Given the description of an element on the screen output the (x, y) to click on. 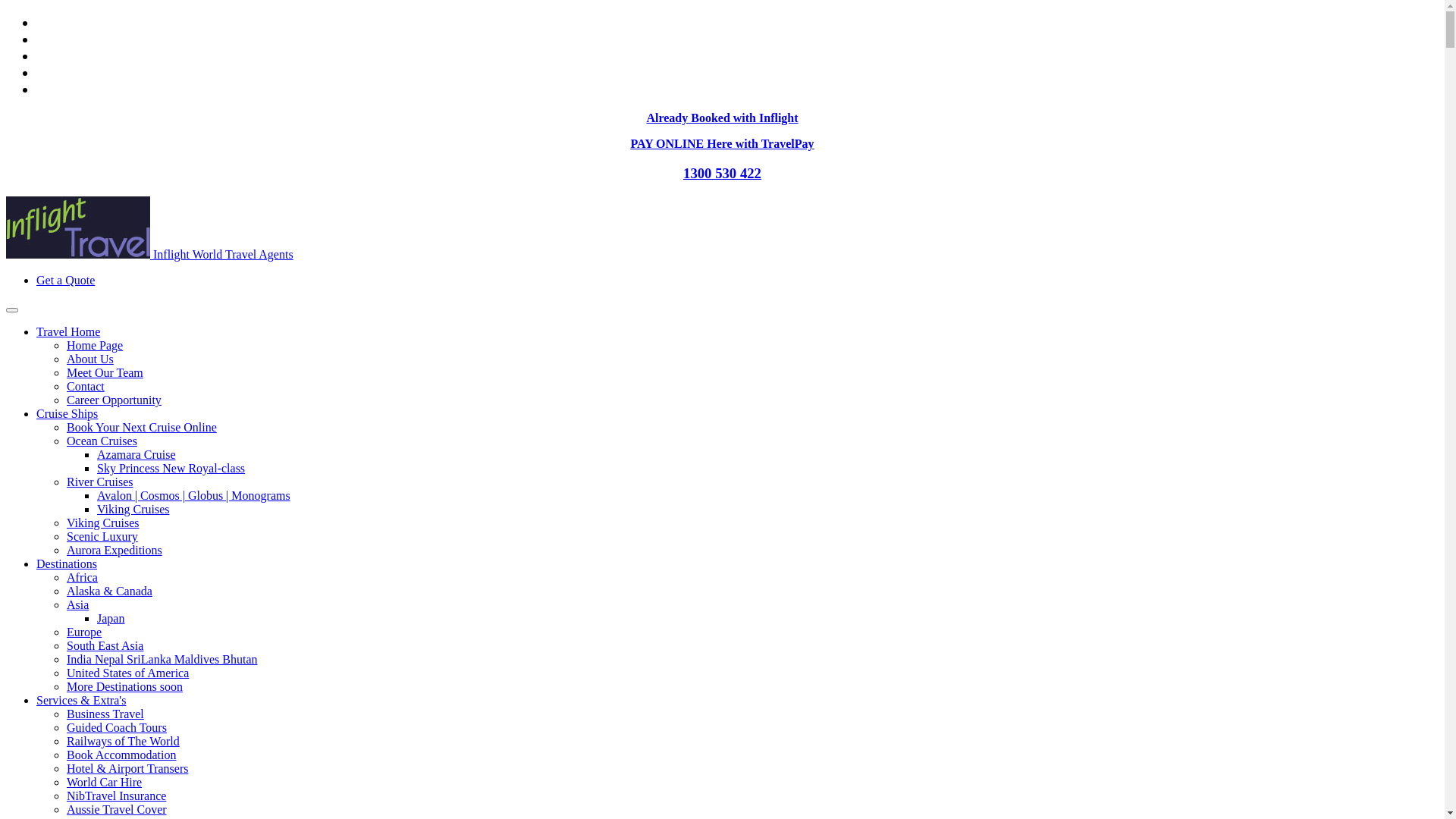
Business Travel Element type: text (105, 713)
Railways of The World Element type: text (122, 740)
Viking Cruises Element type: text (133, 508)
Viking Cruises Element type: text (102, 522)
Already Booked with Inflight Element type: text (721, 117)
Europe Element type: text (83, 631)
More Destinations soon Element type: text (124, 686)
Aussie Travel Cover Element type: text (116, 809)
Services & Extra's Element type: text (80, 699)
Home Page Element type: text (94, 344)
Aurora Expeditions Element type: text (114, 549)
Sky Princess New Royal-class Element type: text (170, 467)
Meet Our Team Element type: text (104, 372)
Alaska & Canada Element type: text (109, 590)
Book Your Next Cruise Online Element type: text (141, 426)
Avalon | Cosmos | Globus | Monograms Element type: text (193, 495)
India Nepal SriLanka Maldives Bhutan Element type: text (161, 658)
South East Asia Element type: text (104, 645)
Destinations Element type: text (66, 563)
Travel Home Element type: text (68, 331)
Get a Quote Element type: text (65, 279)
Book Accommodation Element type: text (120, 754)
River Cruises Element type: text (99, 481)
Africa Element type: text (81, 577)
Career Opportunity Element type: text (113, 399)
Asia Element type: text (77, 604)
Scenic Luxury Element type: text (102, 536)
1300 530 422 Element type: text (722, 173)
Hotel & Airport Transers Element type: text (127, 768)
Azamara Cruise Element type: text (136, 454)
United States of America Element type: text (127, 672)
About Us Element type: text (89, 358)
Ocean Cruises Element type: text (101, 440)
NibTravel Insurance Element type: text (116, 795)
Japan Element type: text (110, 617)
Contact Element type: text (85, 385)
PAY ONLINE Here with TravelPay Element type: text (721, 143)
World Car Hire Element type: text (103, 781)
Inflight World Travel Agents Element type: text (149, 253)
Cruise Ships Element type: text (66, 413)
Guided Coach Tours Element type: text (116, 727)
